Given the description of an element on the screen output the (x, y) to click on. 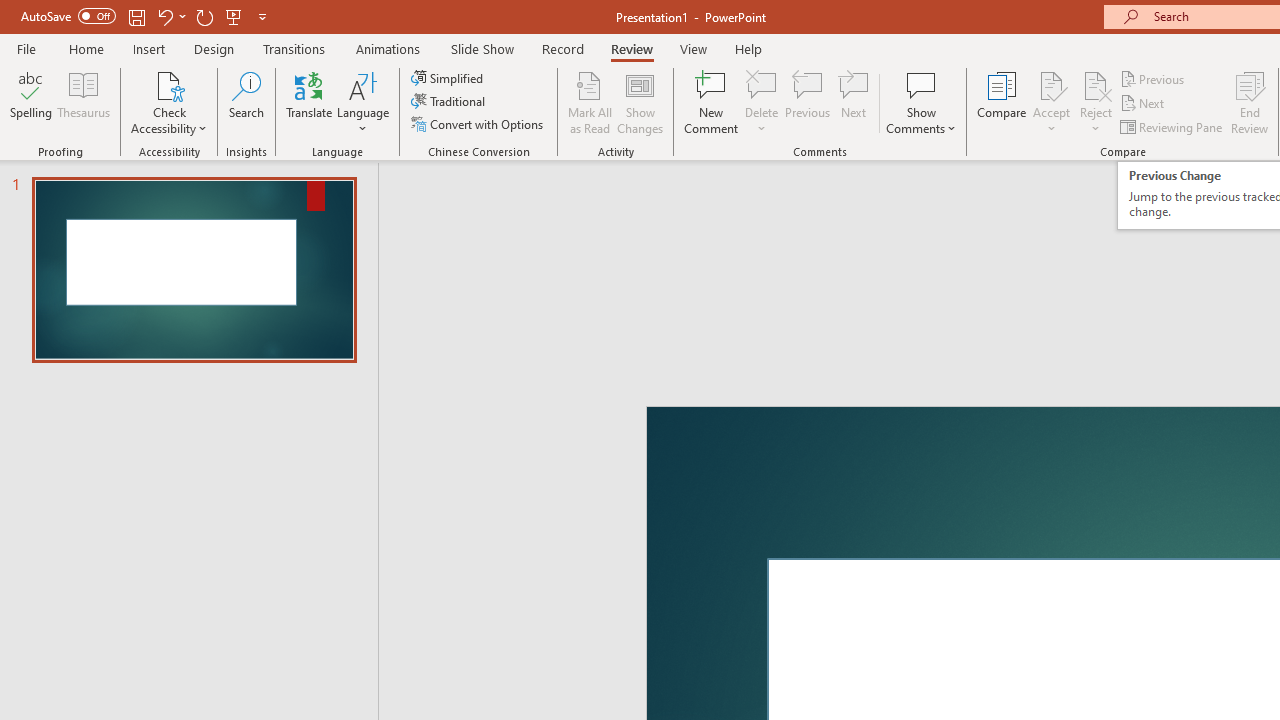
Thesaurus... (83, 102)
Mark All as Read (589, 102)
End Review (1249, 102)
Accept (1051, 102)
